Given the description of an element on the screen output the (x, y) to click on. 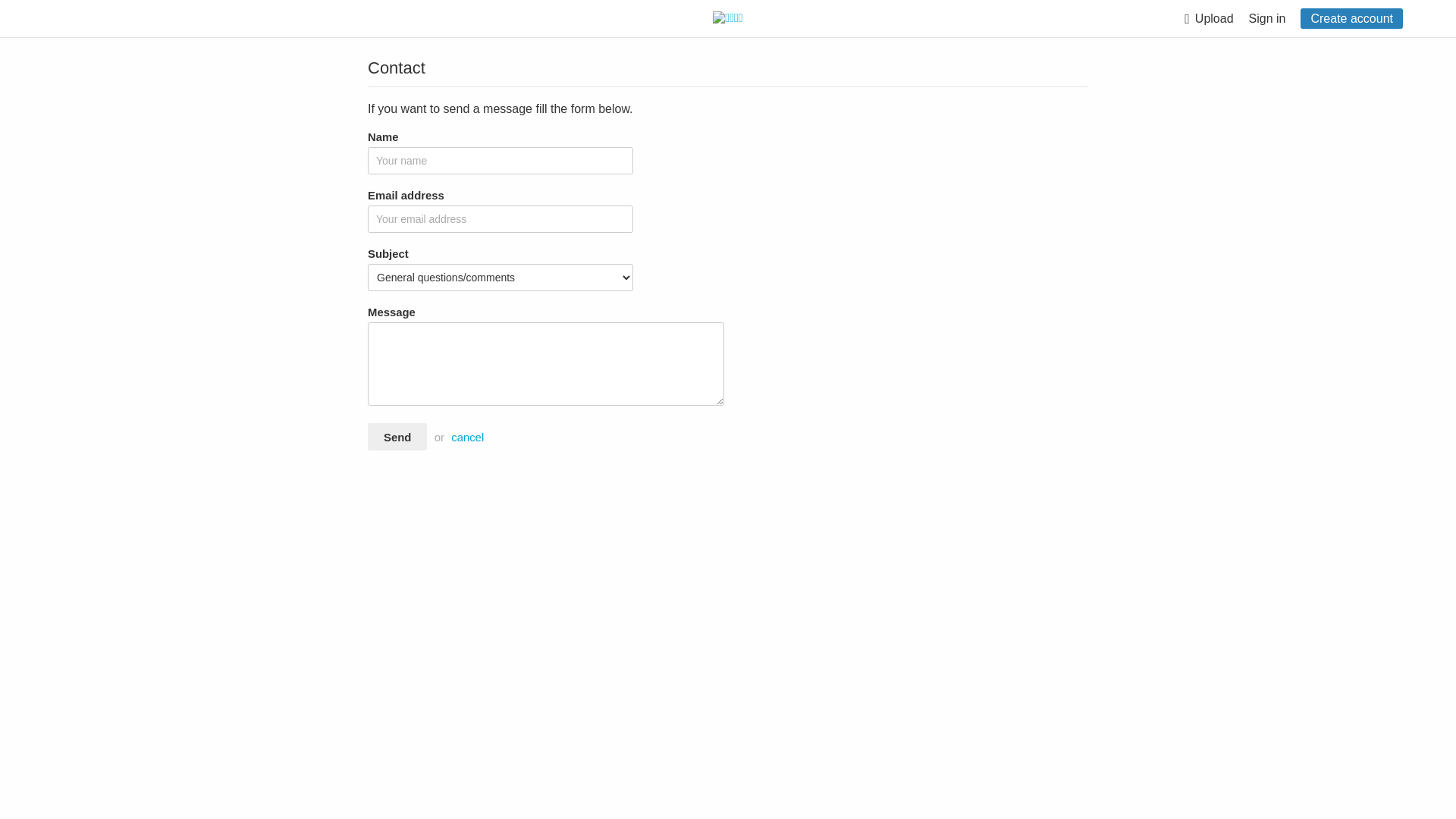
cancel Element type: text (467, 437)
Send Element type: text (396, 436)
